Given the description of an element on the screen output the (x, y) to click on. 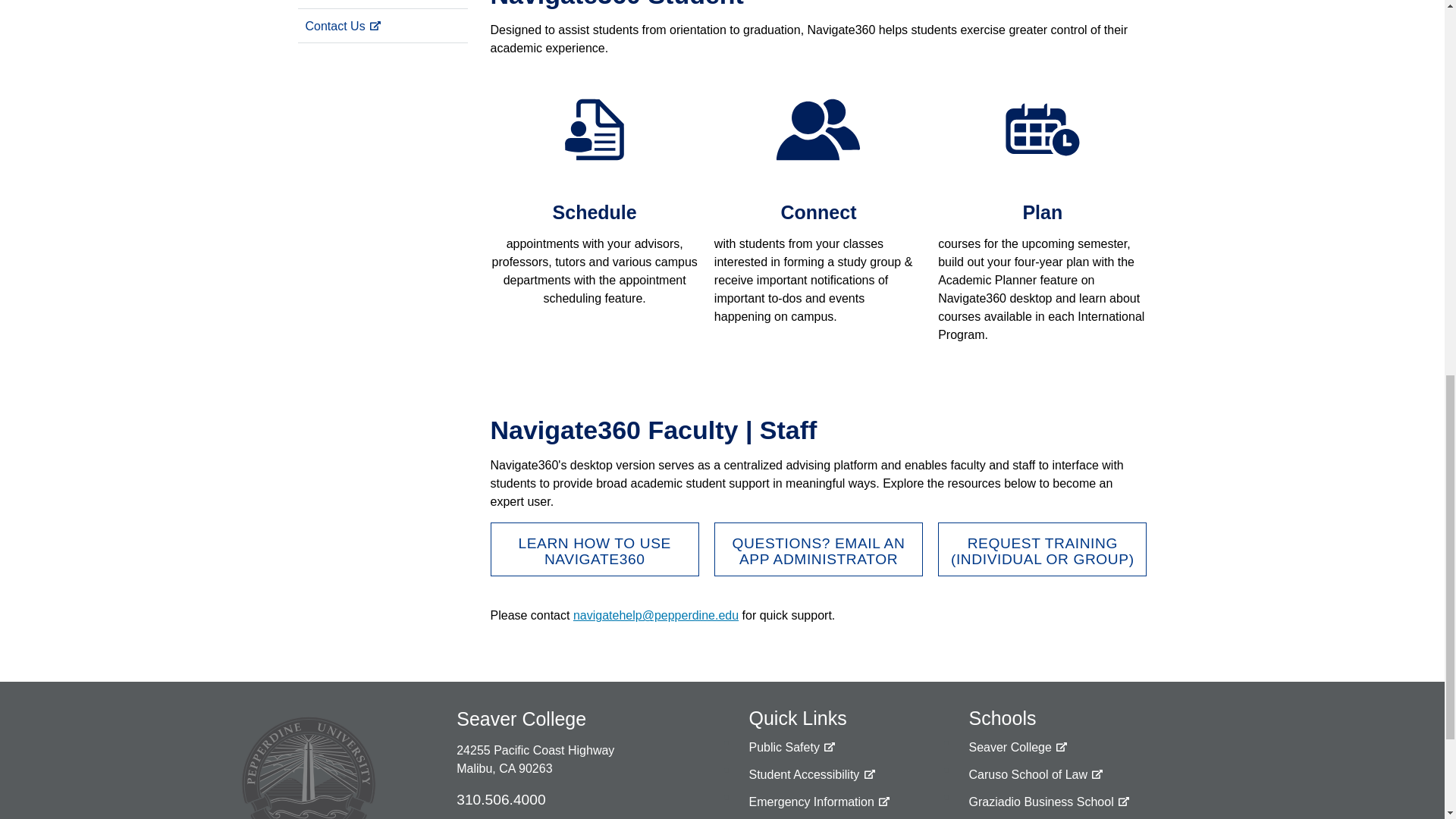
Link to External Site (593, 549)
Email (818, 549)
Link to External Site (790, 747)
Email (655, 615)
Link to External Site (1042, 549)
Link to External Site (382, 4)
Link to External Site (811, 774)
Link to External Site (818, 801)
